Given the description of an element on the screen output the (x, y) to click on. 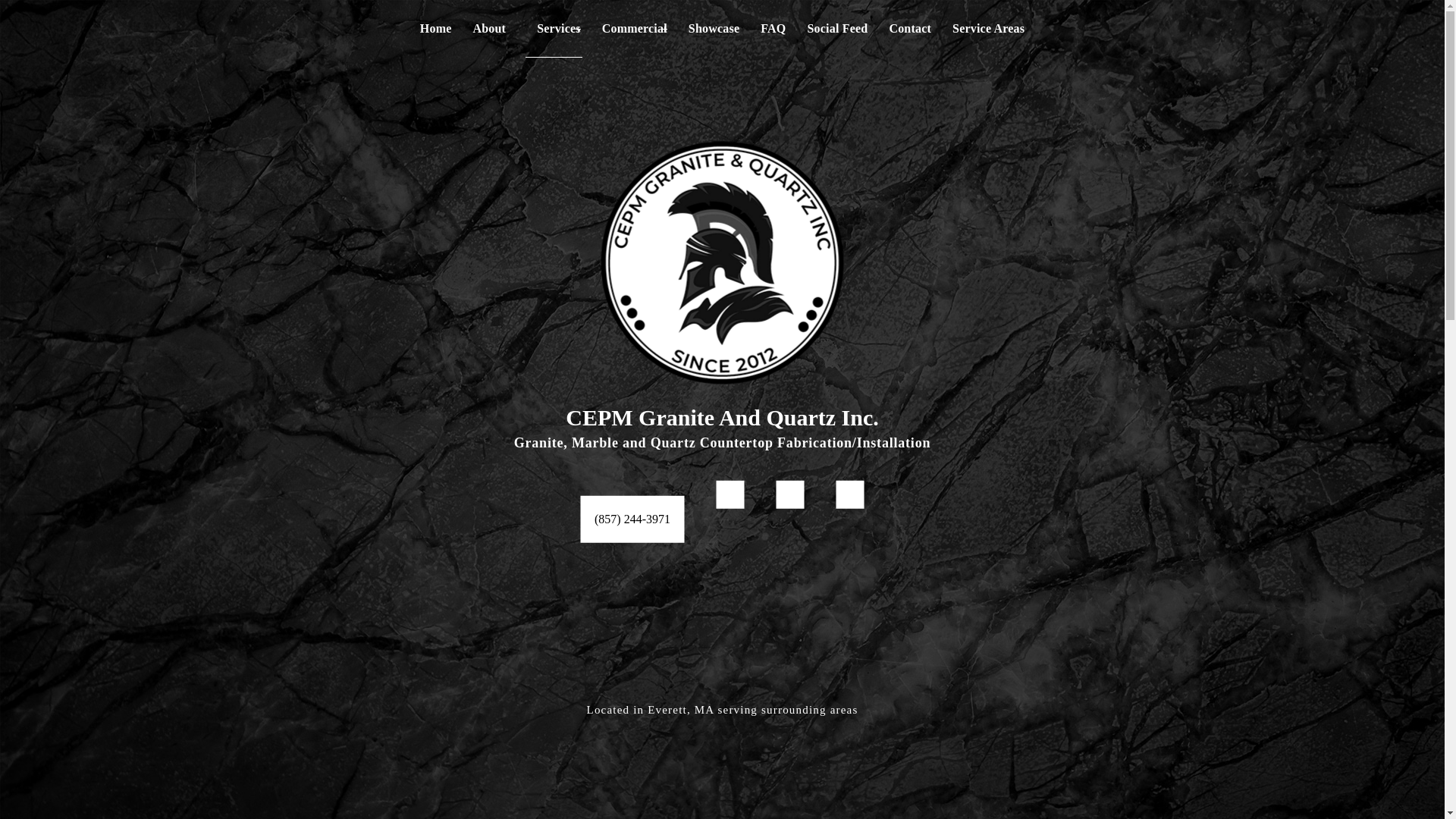
Ceramic Tile (553, 73)
About (488, 28)
Social Feed (837, 28)
Showcase (714, 28)
Granite Countertops (553, 105)
FAQ (772, 28)
Commercial Marble Installation (633, 72)
Home (435, 28)
Commercial (633, 28)
CEPM Granite and Quartz Inc.'s Google Maps (849, 494)
CEPM Granite And Quartz Inc. (721, 417)
Services (553, 28)
Marble Installation (553, 137)
Service Areas (988, 28)
CEPM Granite and Quartz Inc.'s Facebook (730, 494)
